Given the description of an element on the screen output the (x, y) to click on. 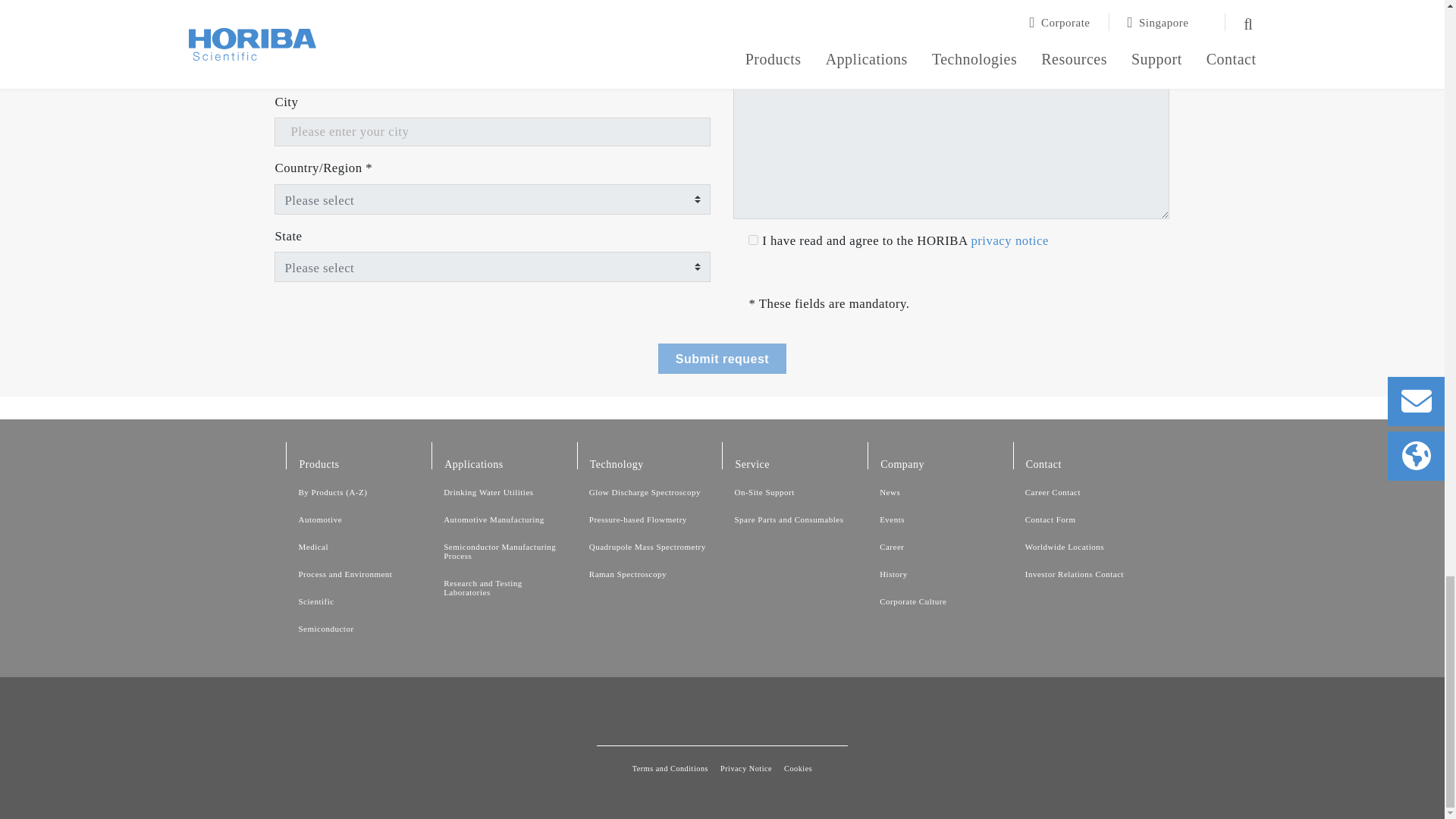
1 (753, 239)
